Given the description of an element on the screen output the (x, y) to click on. 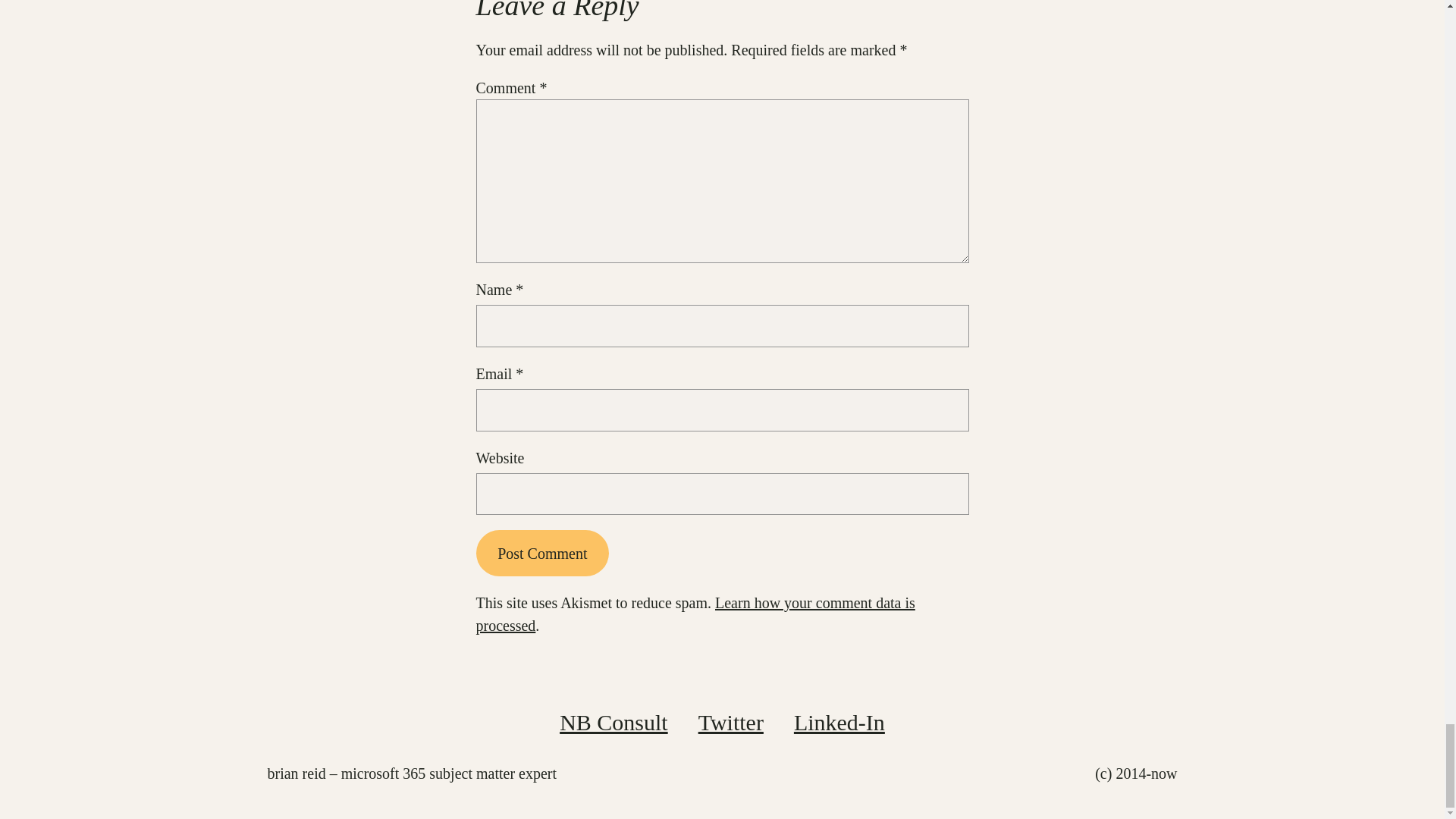
Post Comment (543, 552)
